Given the description of an element on the screen output the (x, y) to click on. 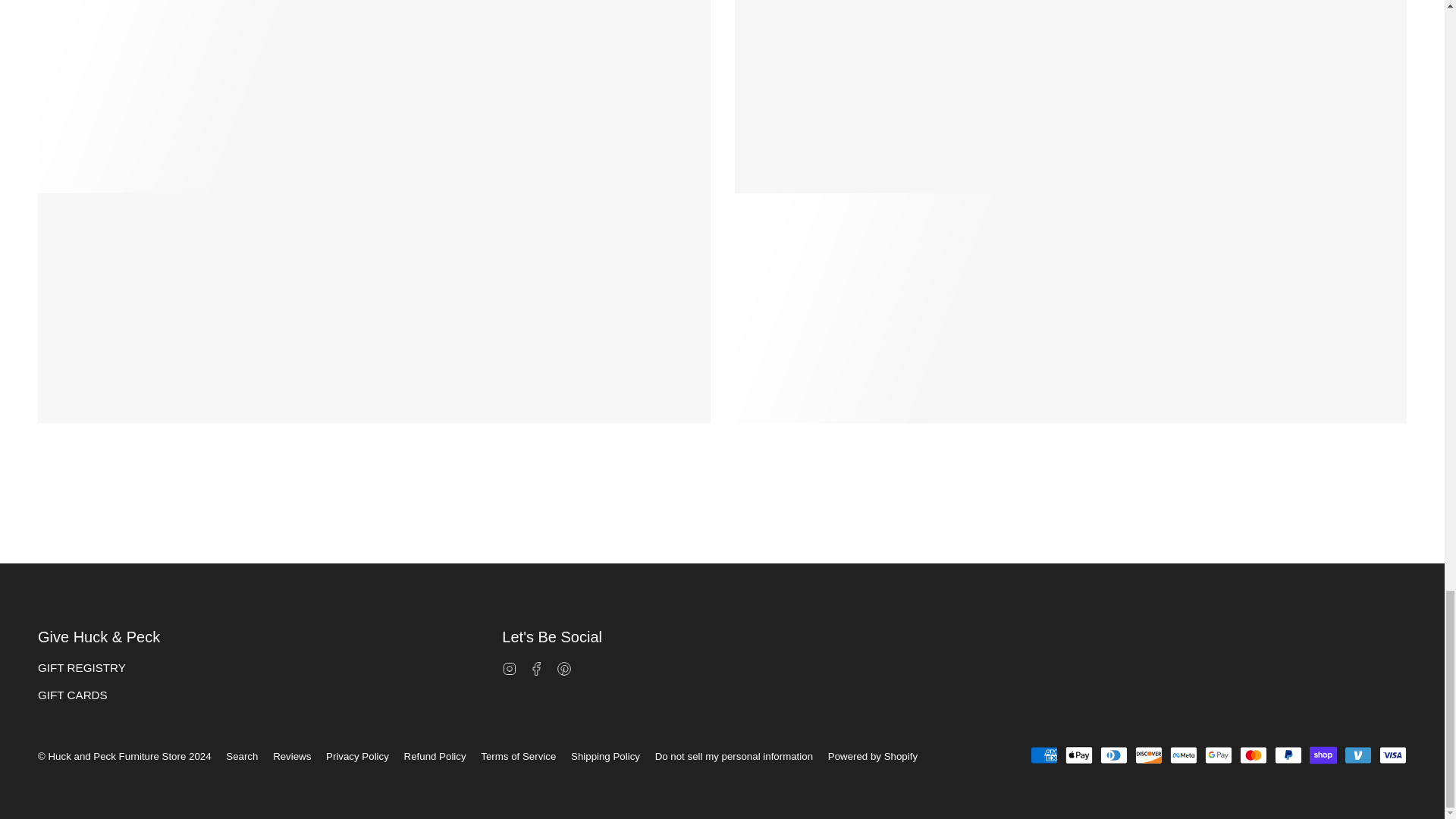
Meta Pay (1183, 755)
Discover (1148, 755)
Huck and Peck Furniture Store on Facebook (536, 667)
Mastercard (1253, 755)
Apple Pay (1079, 755)
Diners Club (1113, 755)
Huck and Peck Furniture Store on Pinterest (564, 667)
American Express (1044, 755)
Google Pay (1218, 755)
PayPal (1288, 755)
Huck and Peck Furniture Store on Instagram (509, 667)
